Given the description of an element on the screen output the (x, y) to click on. 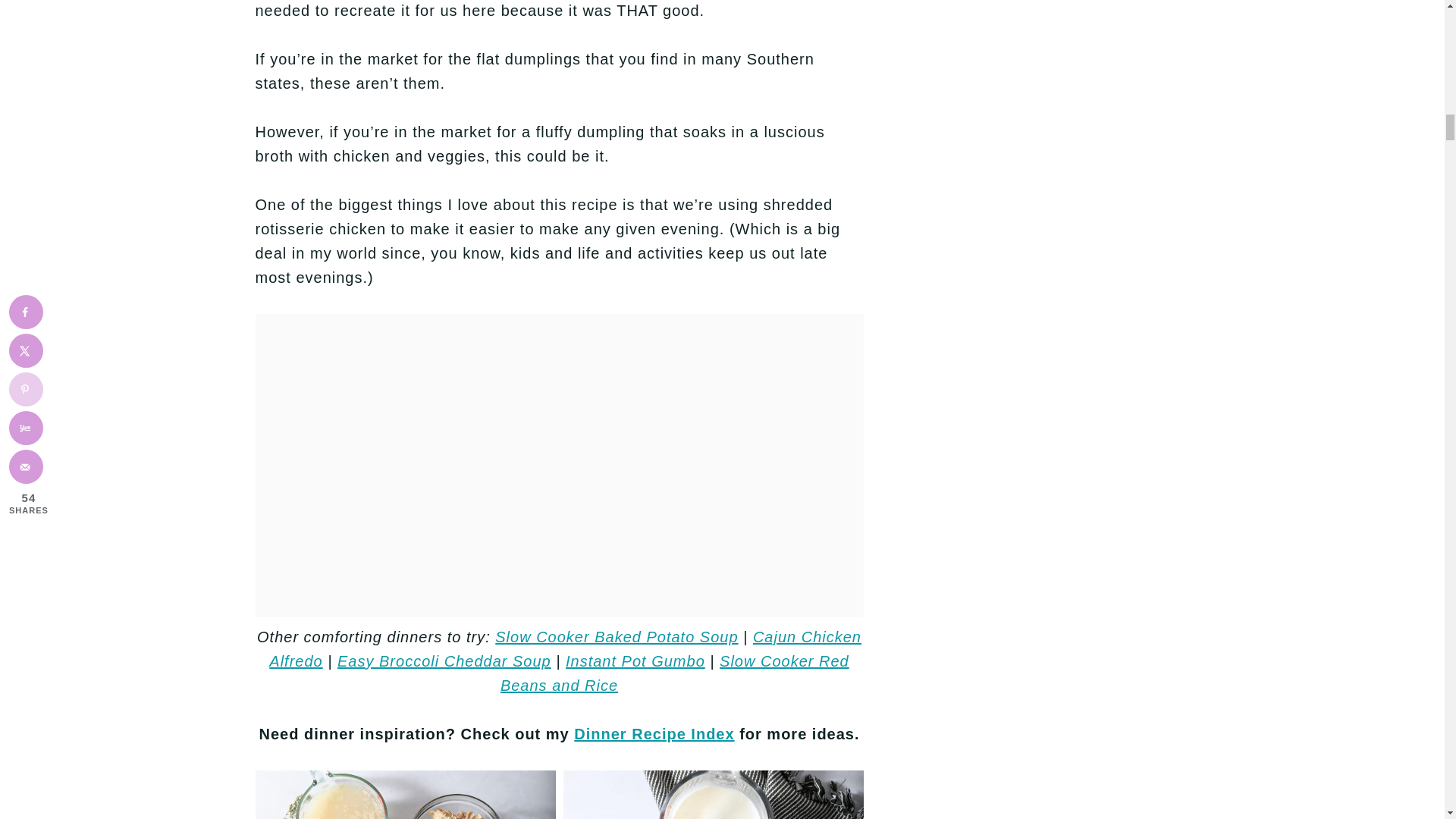
Slow Cooker Baked Potato Soup (616, 636)
Slow Cooker Red Beans and Rice (674, 672)
Dinner Recipe Index (653, 733)
Easy Broccoli Cheddar Soup (444, 660)
Instant Pot Gumbo (635, 660)
Cajun Chicken Alfredo (565, 648)
